Given the description of an element on the screen output the (x, y) to click on. 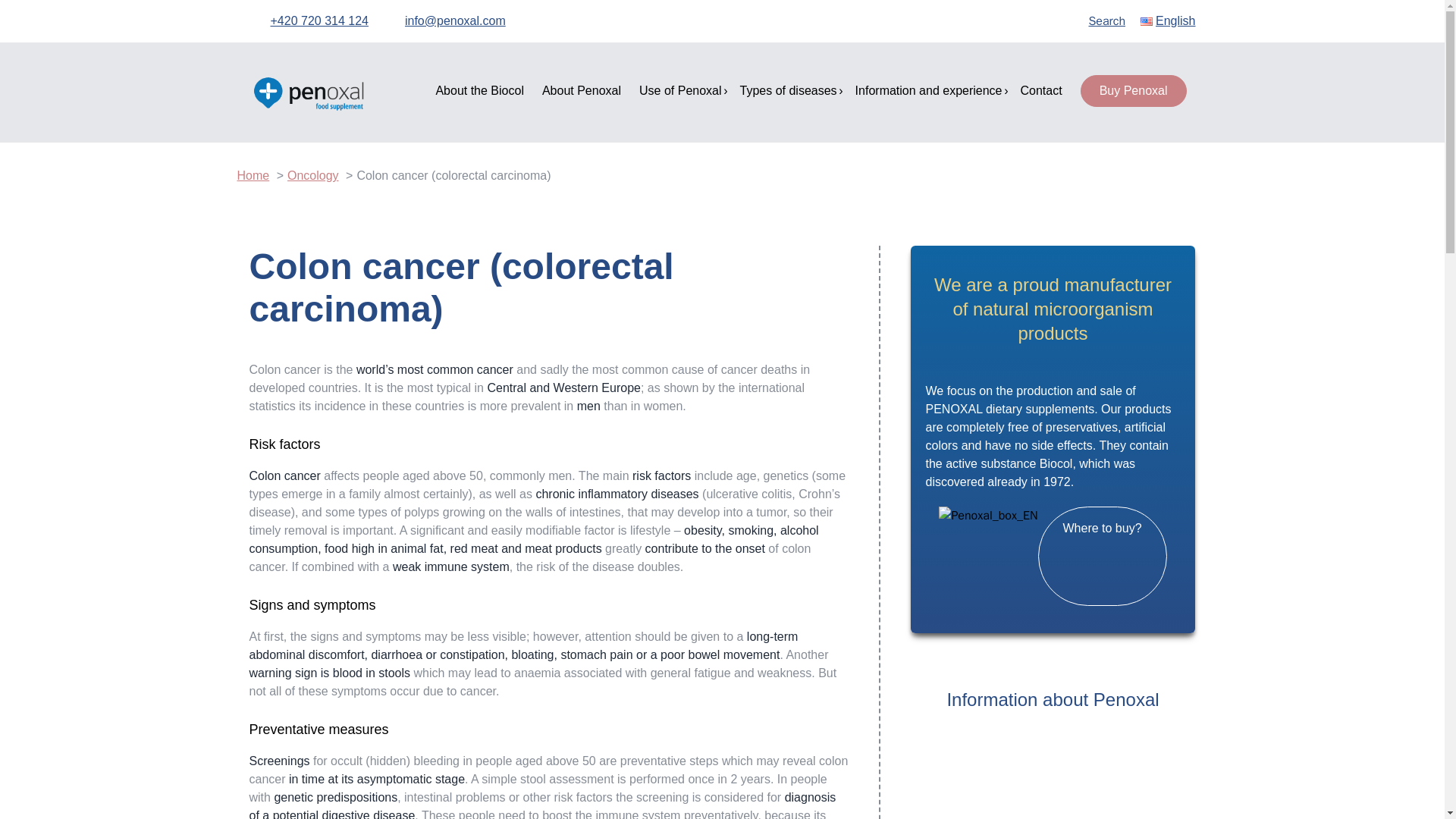
About the Biocol (479, 90)
Contact (1041, 90)
About Penoxal (581, 90)
Buy Penoxal (1133, 91)
Home (252, 174)
English (1167, 21)
Oncology (312, 174)
English (1167, 21)
Information and experience (929, 90)
